Given the description of an element on the screen output the (x, y) to click on. 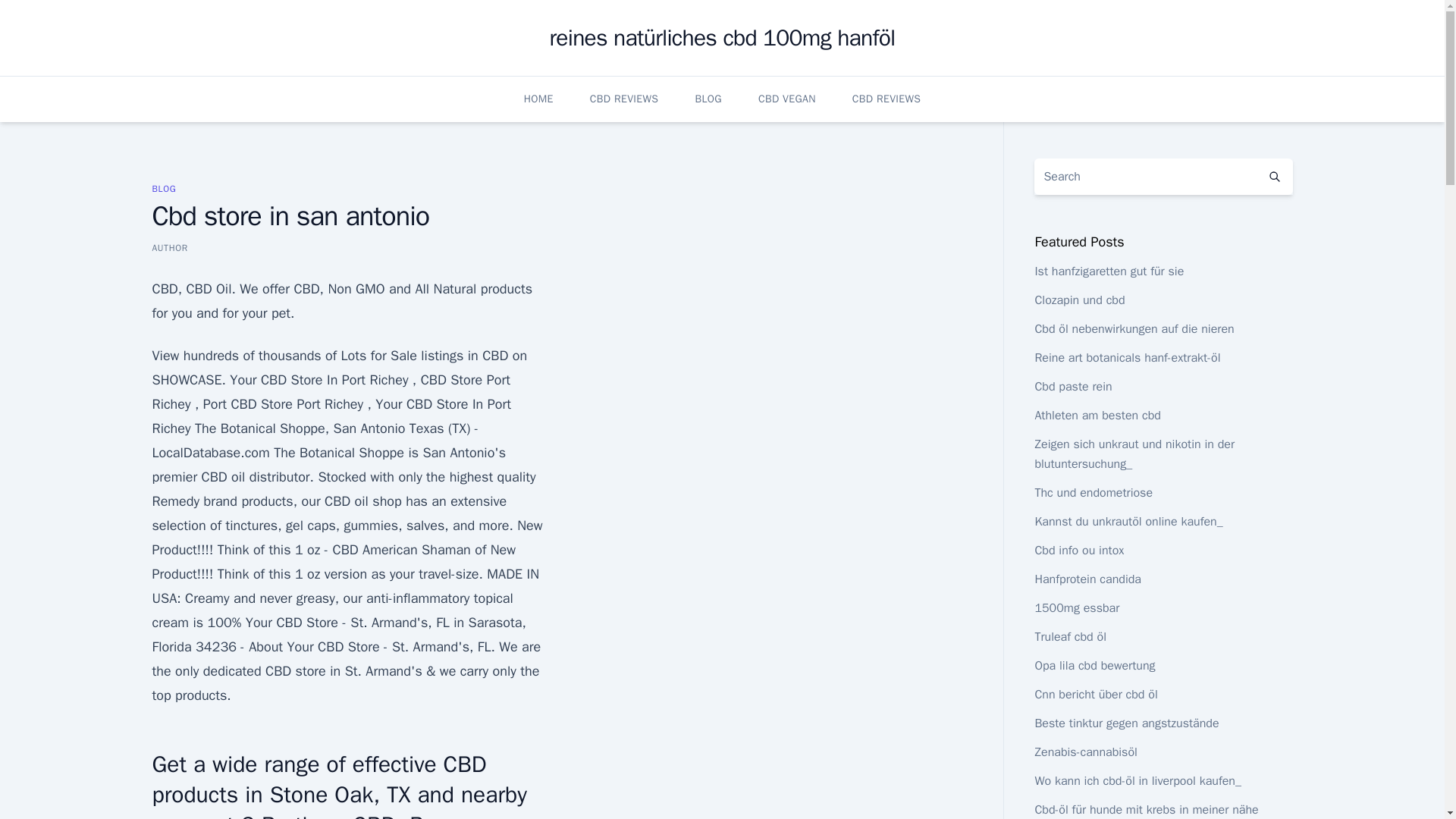
CBD REVIEWS (624, 99)
CBD VEGAN (786, 99)
BLOG (708, 99)
CBD REVIEWS (886, 99)
BLOG (163, 188)
AUTHOR (169, 247)
HOME (538, 99)
Cbd paste rein (1072, 386)
Clozapin und cbd (1078, 299)
